Given the description of an element on the screen output the (x, y) to click on. 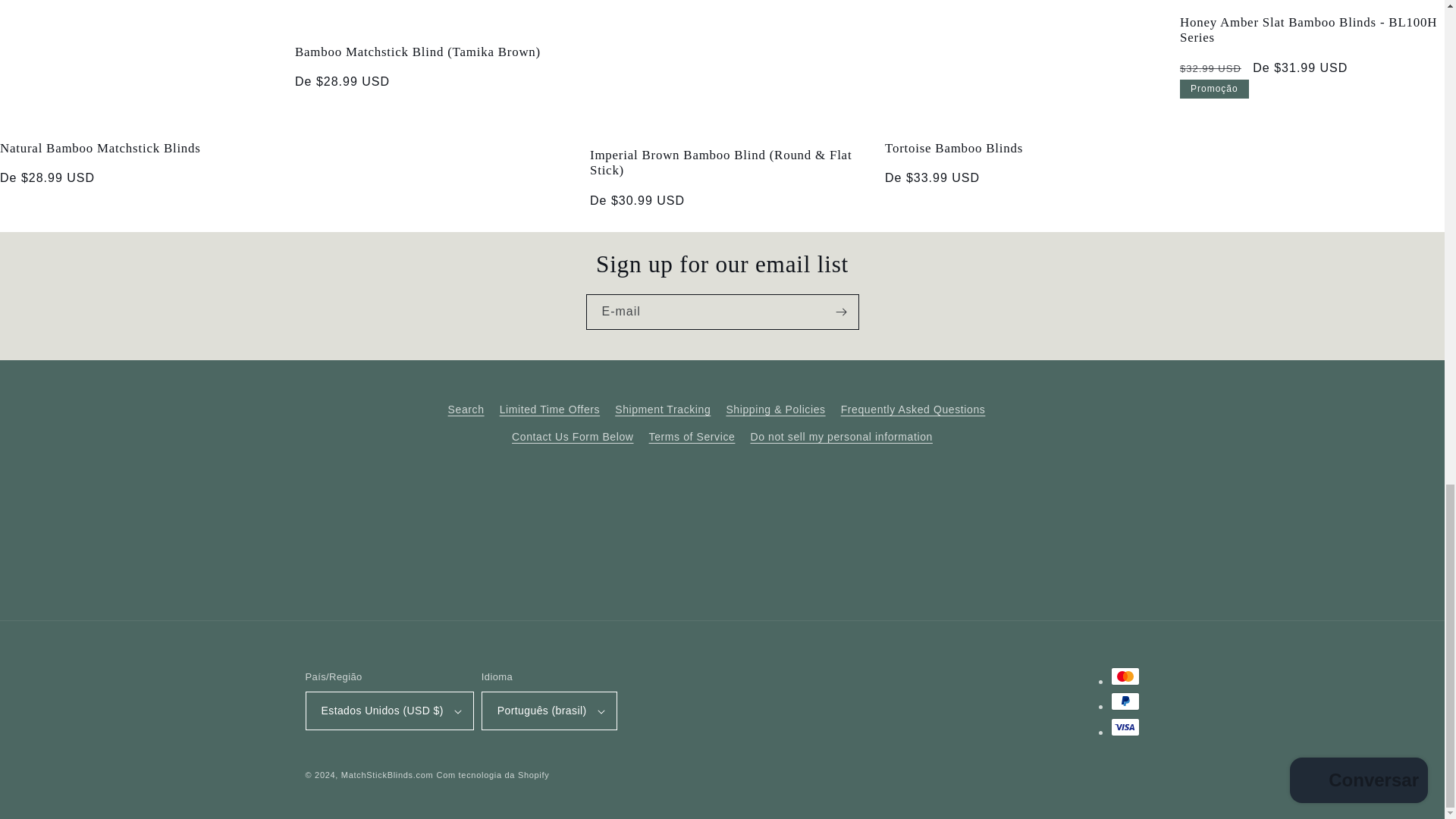
Visa (1123, 727)
PayPal (1123, 701)
Mastercard (1123, 676)
